Given the description of an element on the screen output the (x, y) to click on. 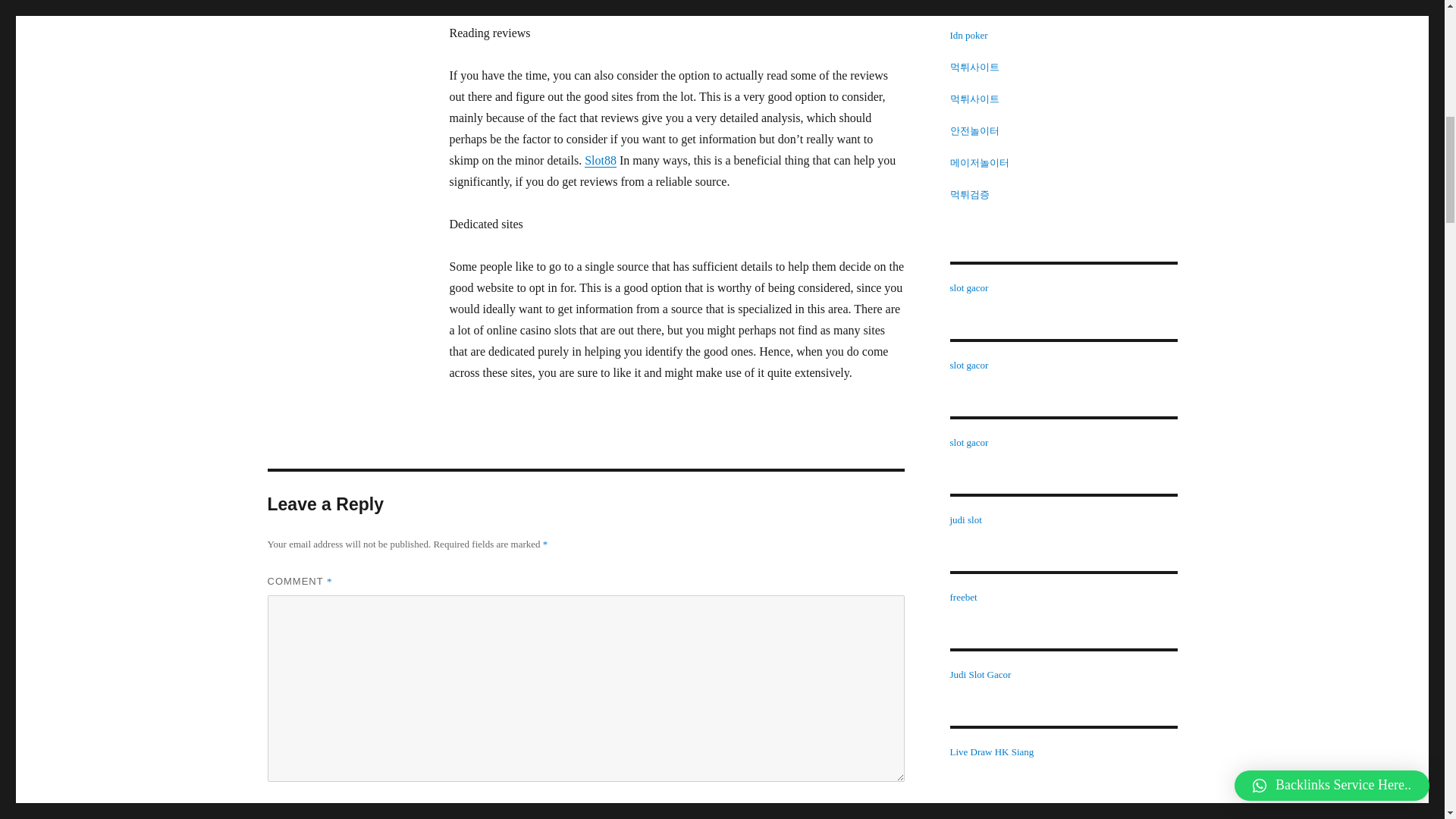
slot gacor (968, 365)
slot gacor (968, 441)
freebet (962, 596)
slot gacor (968, 4)
judi slot (965, 519)
Judi Slot Gacor (979, 674)
Slot88 (600, 160)
Live Draw HK Siang (991, 751)
Idn poker (968, 34)
slot gacor (968, 287)
